Given the description of an element on the screen output the (x, y) to click on. 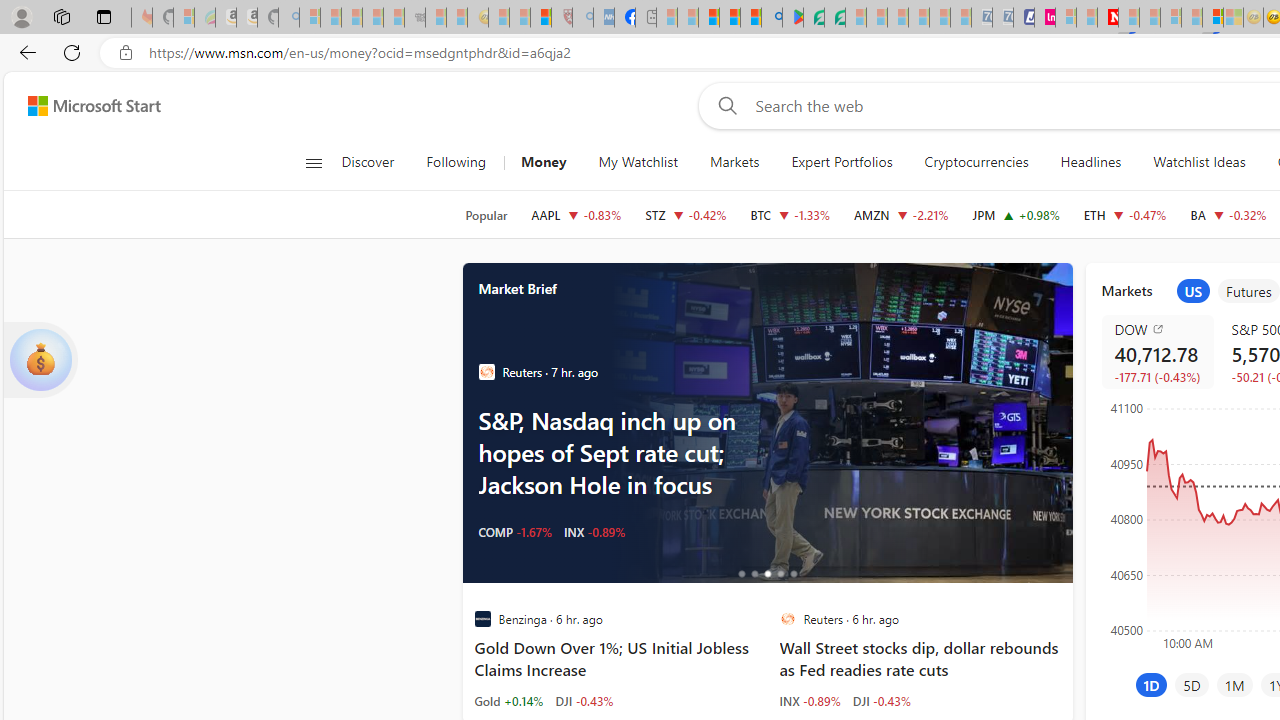
item1 (1193, 291)
Reuters (787, 619)
item2 (1249, 291)
Open navigation menu (313, 162)
Terms of Use Agreement (813, 17)
google - Search (771, 17)
Class: button-glyph (313, 162)
